Given the description of an element on the screen output the (x, y) to click on. 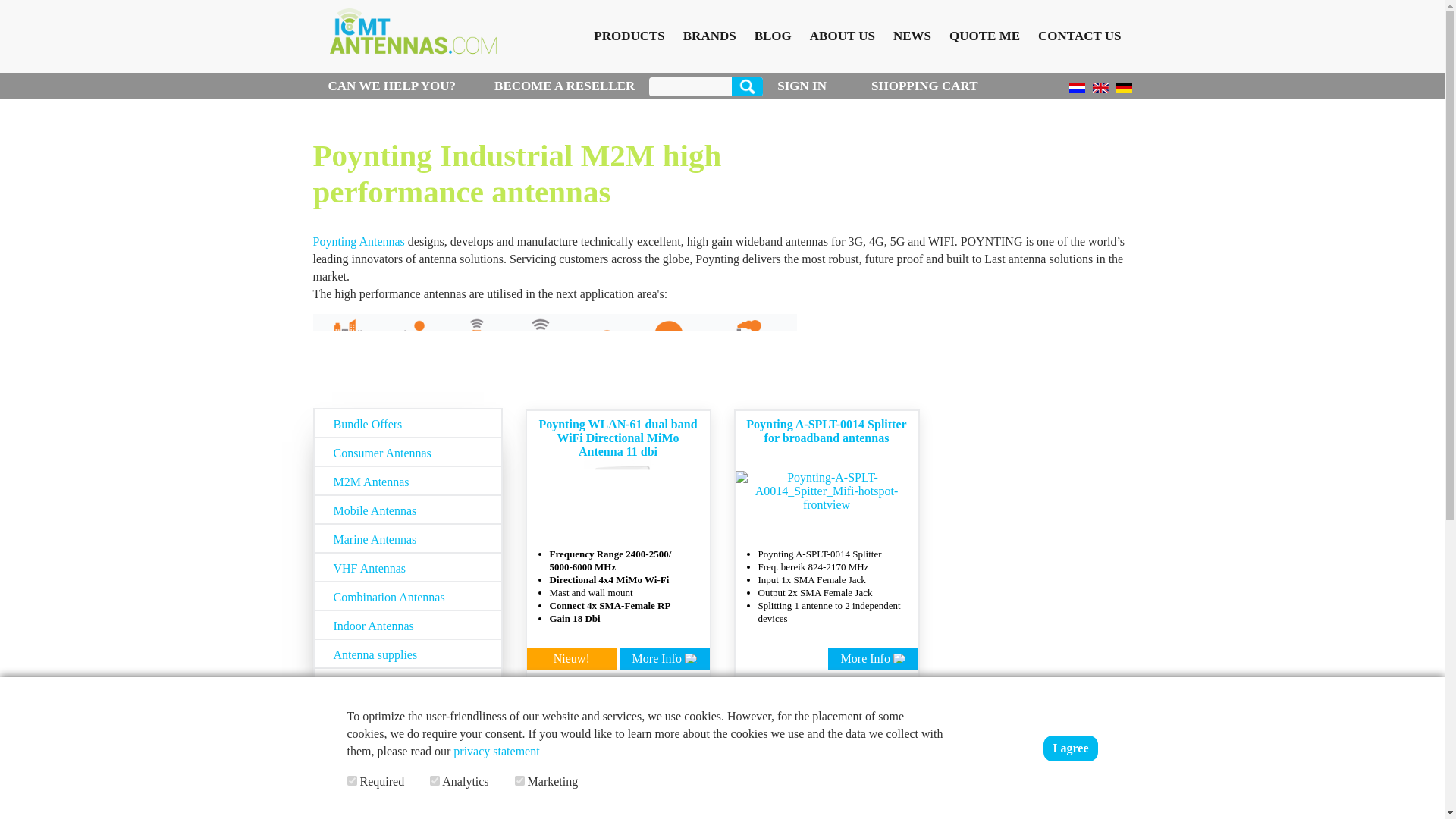
reset (485, 809)
Consumer Antennas (407, 451)
ABOUT US (842, 36)
toevoegen aan winkelwagen (891, 697)
Antenna supplies (407, 653)
SIGN IN (802, 85)
on (351, 780)
on (519, 780)
WiFi Antennas (367, 781)
toevoegen aan winkelwagen (681, 697)
Adapters (353, 768)
CONTACT US (1078, 36)
Poynting Antennas (358, 241)
CAN WE HELP YOU? (403, 85)
Marine Antennas (407, 538)
